Given the description of an element on the screen output the (x, y) to click on. 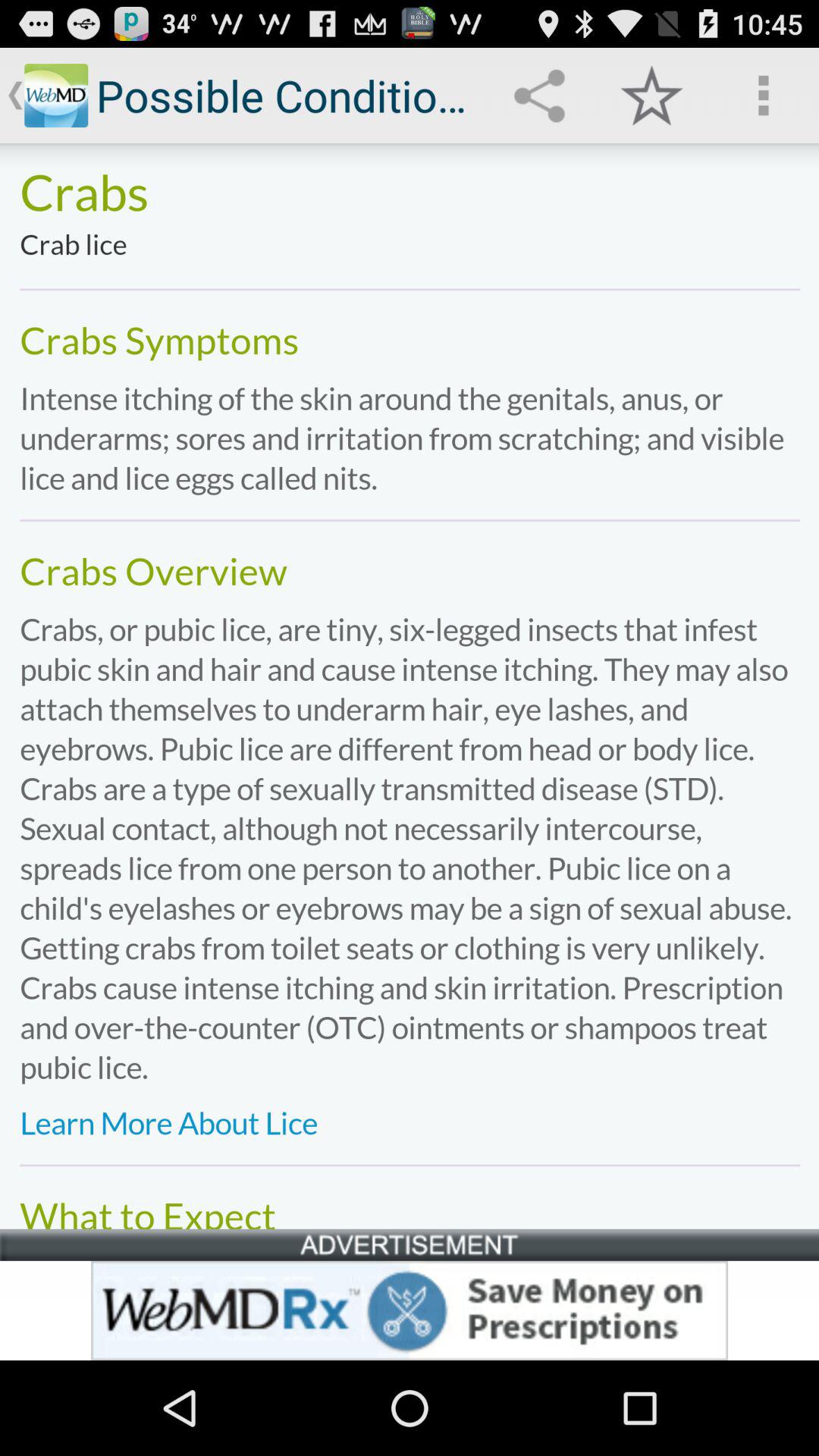
description (409, 686)
